Given the description of an element on the screen output the (x, y) to click on. 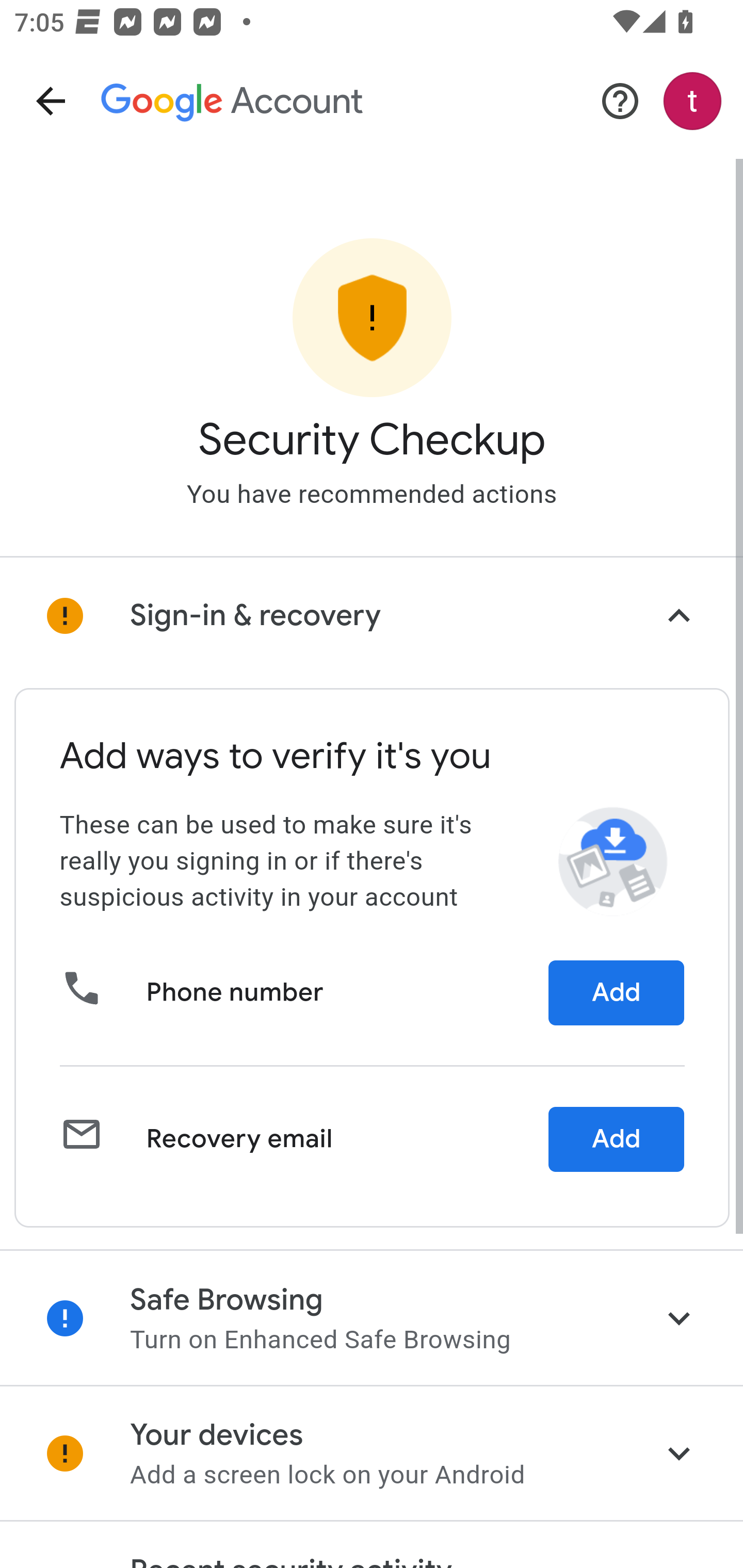
Navigate up (50, 101)
Help & feedback (619, 101)
Issues found in sign-in & recovery (371, 615)
Add your phone number (616, 993)
Add a recovery email (616, 1138)
Safe Browsing Turn on Enhanced Safe Browsing (371, 1317)
